Given the description of an element on the screen output the (x, y) to click on. 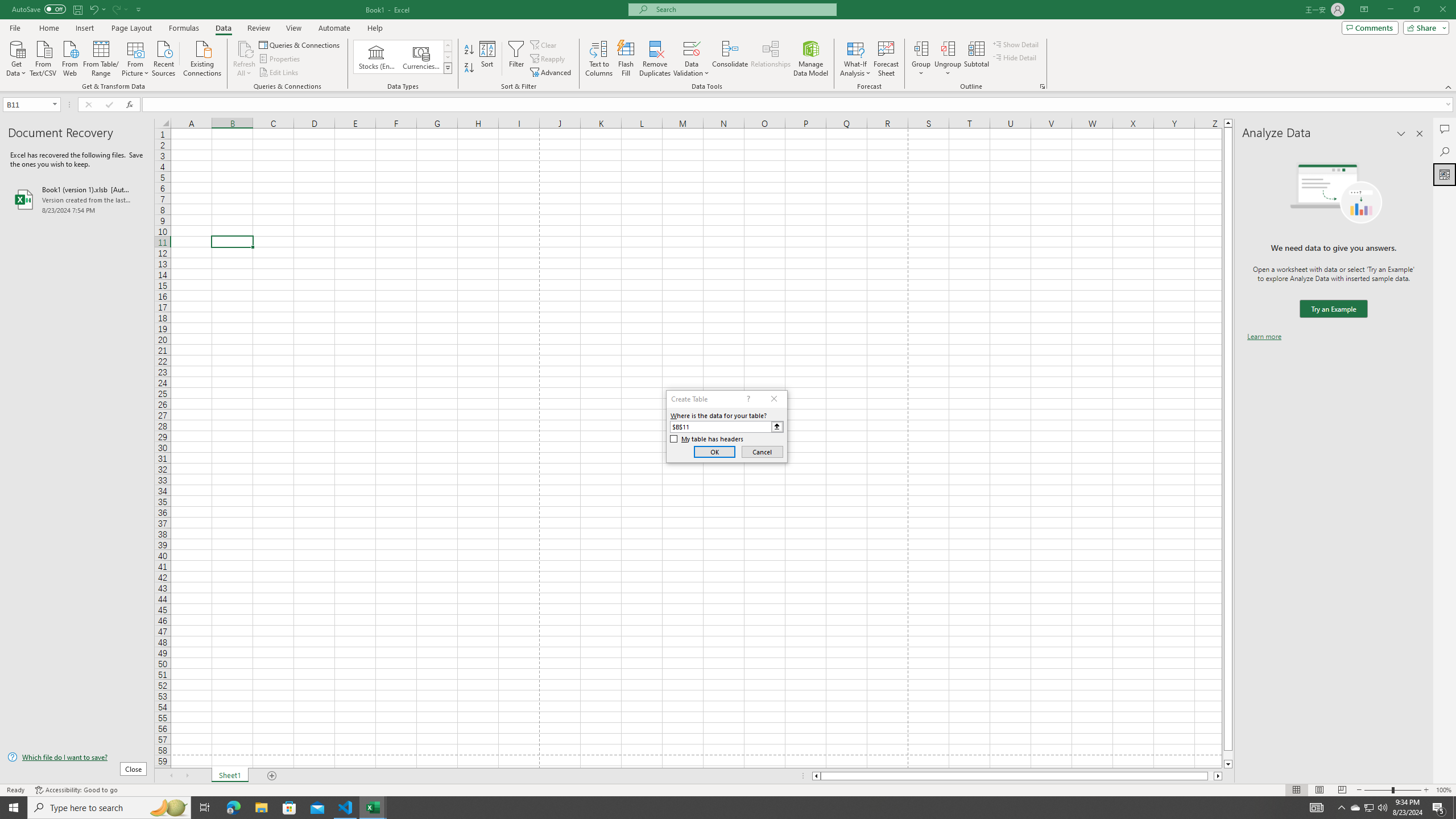
Class: MsoCommandBar (728, 45)
Book1 (version 1).xlsb  [AutoRecovered] (77, 199)
Subtotal (976, 58)
Row up (448, 45)
AutomationID: ConvertToLinkedEntity (403, 56)
Properties (280, 58)
